Given the description of an element on the screen output the (x, y) to click on. 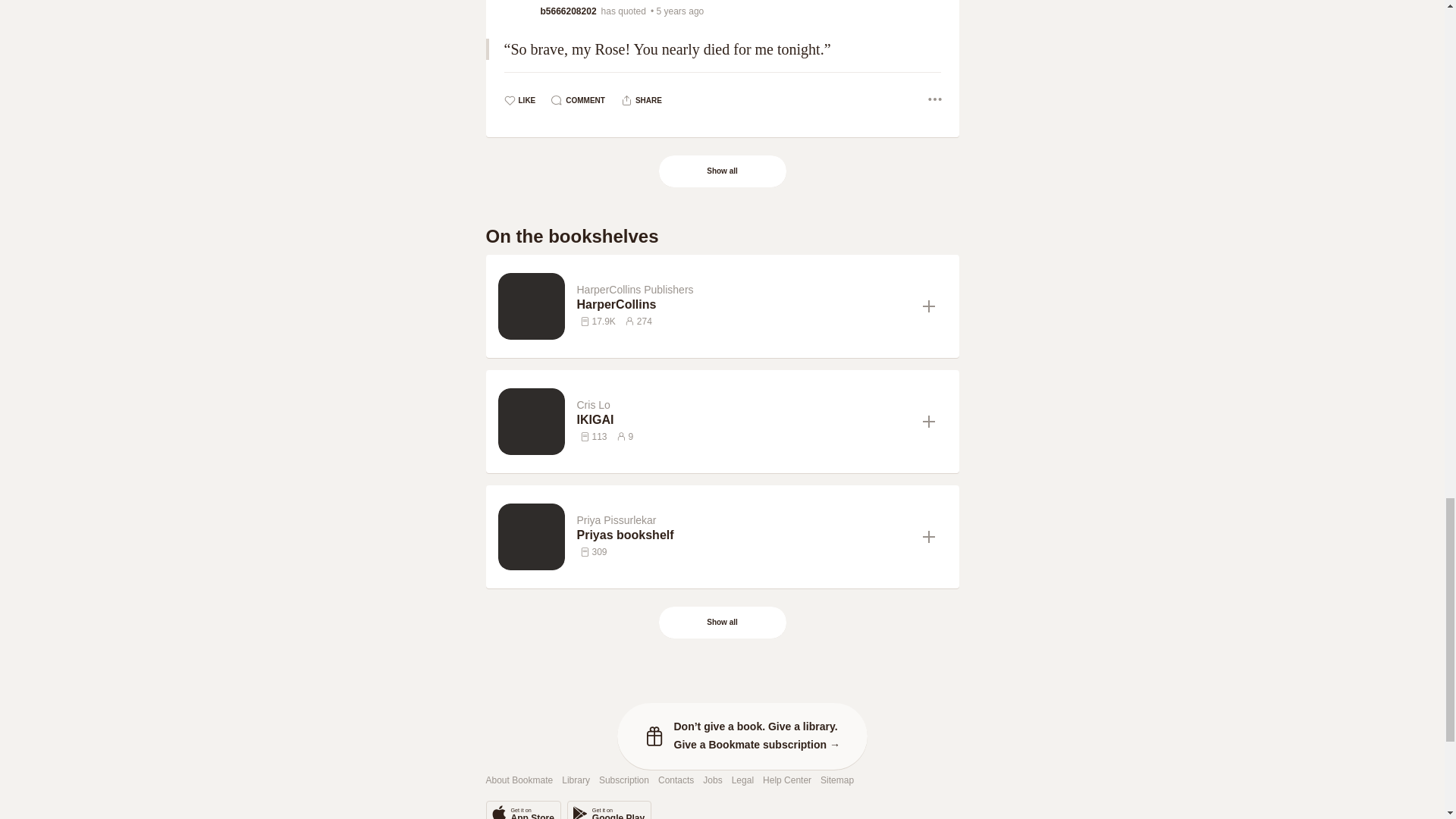
Priyas bookshelf (743, 534)
Show all (722, 622)
HarperCollins  (743, 304)
About Bookmate (518, 780)
Priyas bookshelf (743, 534)
Show all (722, 171)
Contacts (676, 780)
IKIGAI (743, 419)
Jobs (712, 780)
Subscription (623, 780)
